Given the description of an element on the screen output the (x, y) to click on. 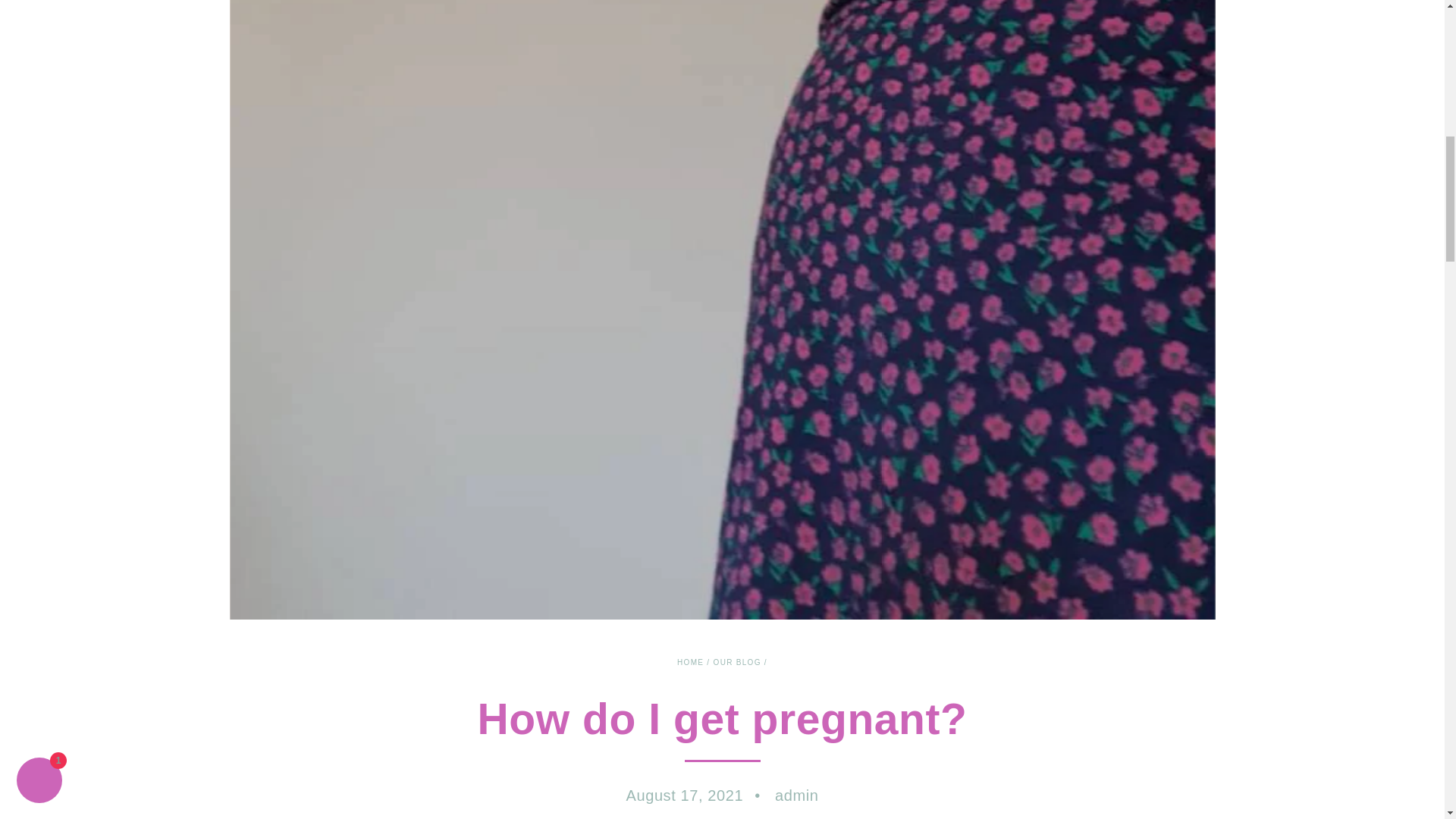
Back to the frontpage (690, 662)
